Given the description of an element on the screen output the (x, y) to click on. 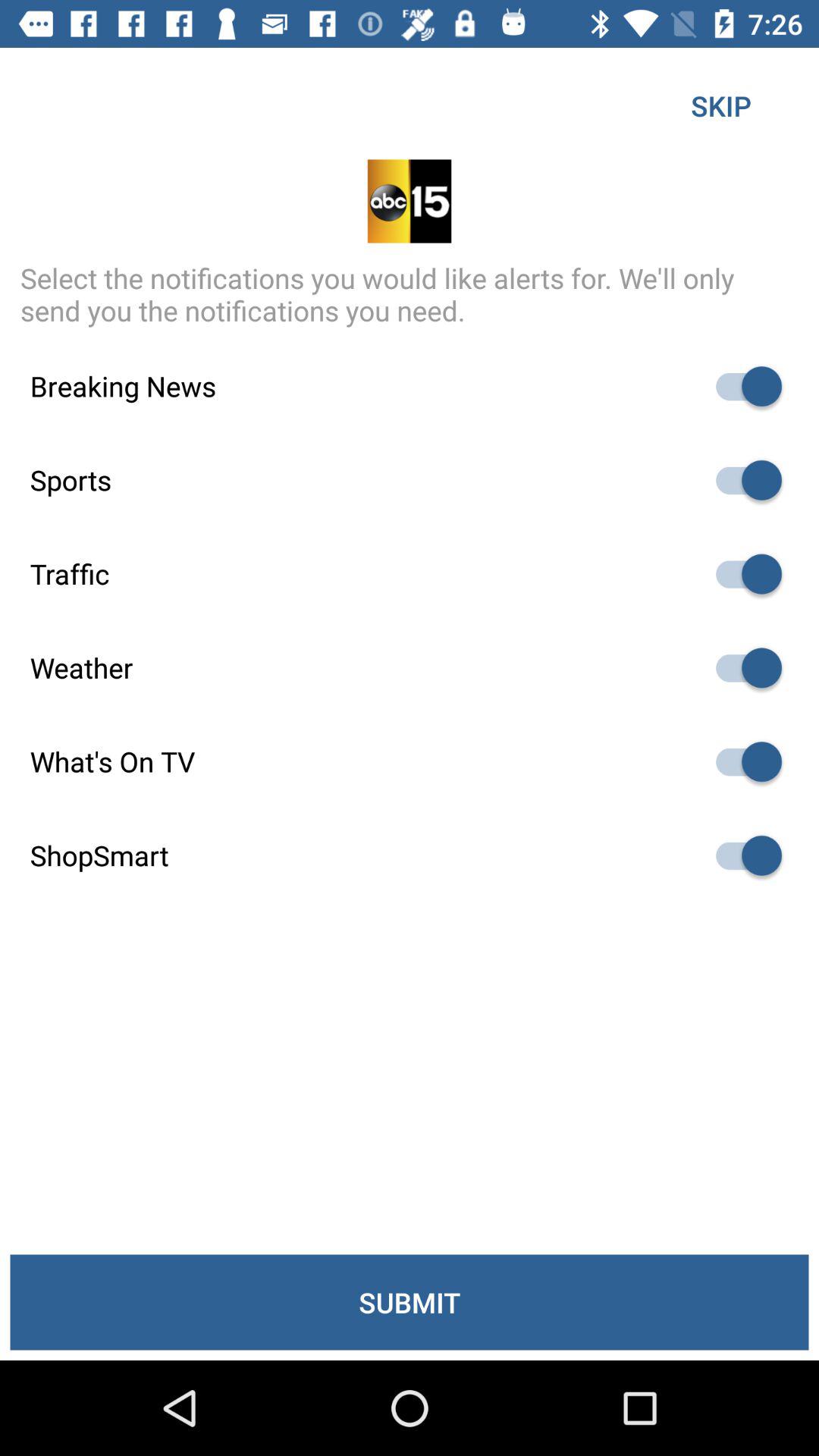
this button turns on or off traffic alerts (741, 574)
